Given the description of an element on the screen output the (x, y) to click on. 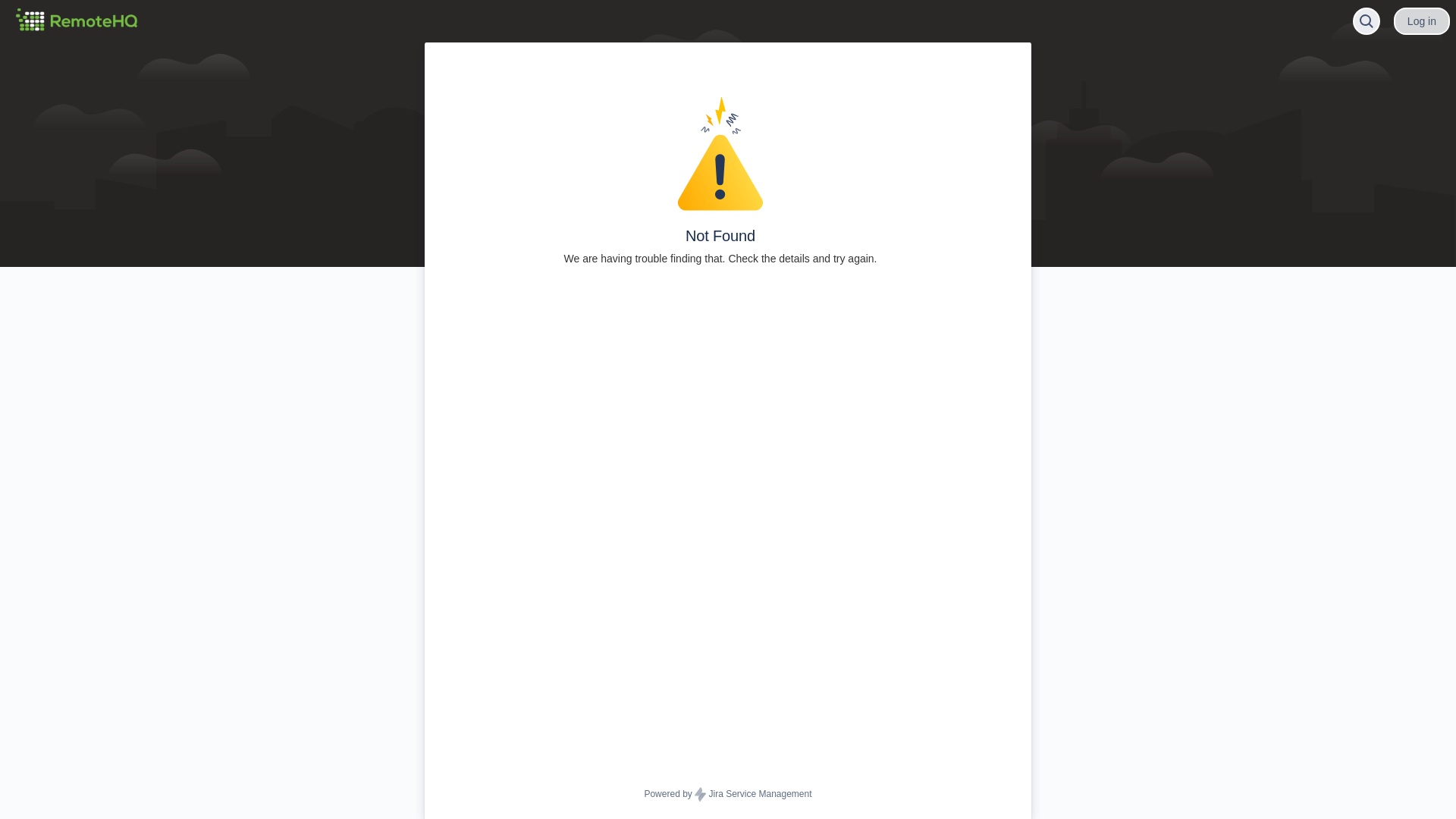
Powered by Jira Service Management Element type: text (727, 794)
Log in Element type: text (1421, 21)
